Given the description of an element on the screen output the (x, y) to click on. 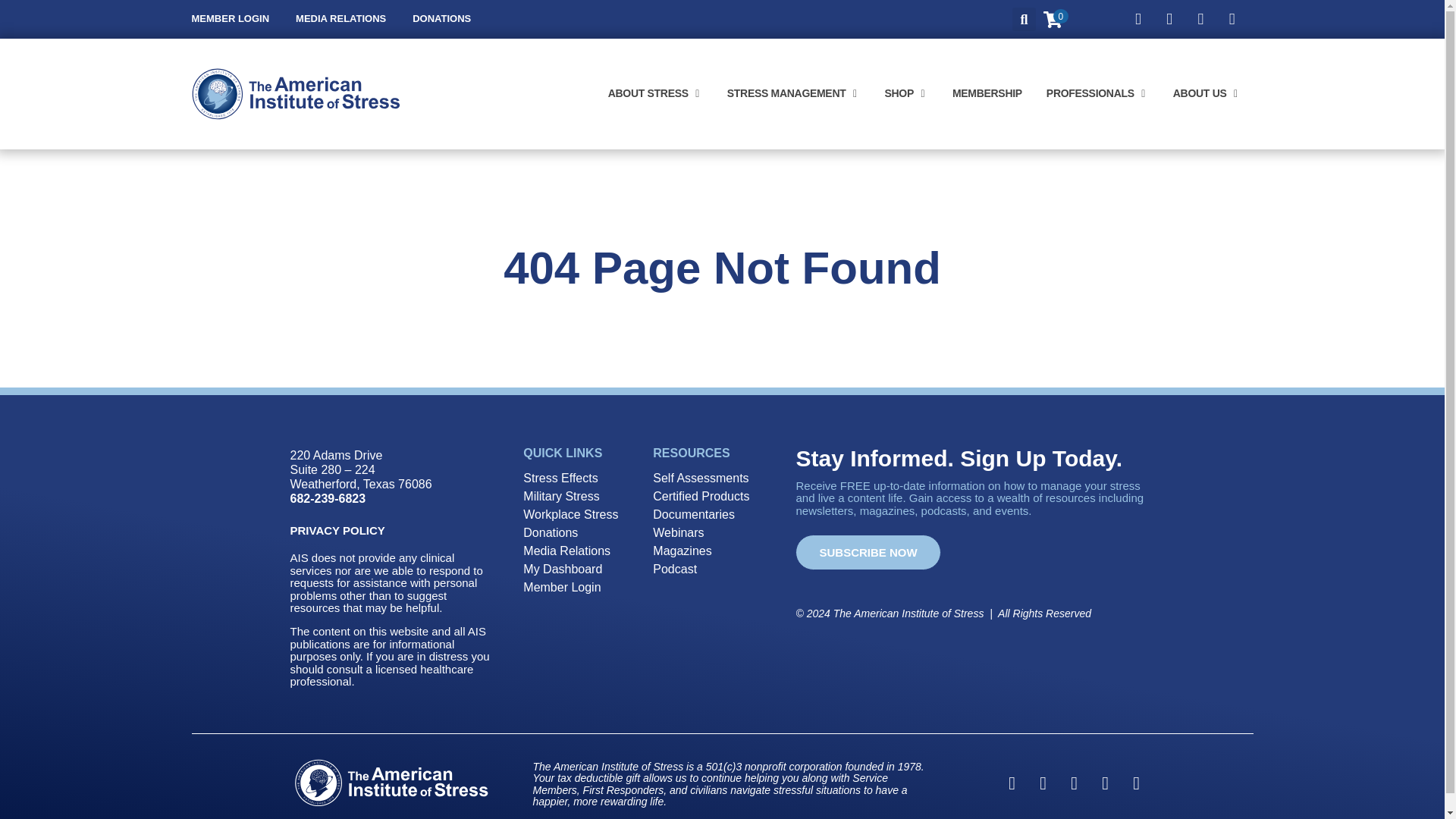
View your shopping cart (1052, 23)
MEDIA RELATIONS (340, 19)
MEMBER LOGIN (229, 19)
0 (1052, 23)
DONATIONS (441, 19)
